Given the description of an element on the screen output the (x, y) to click on. 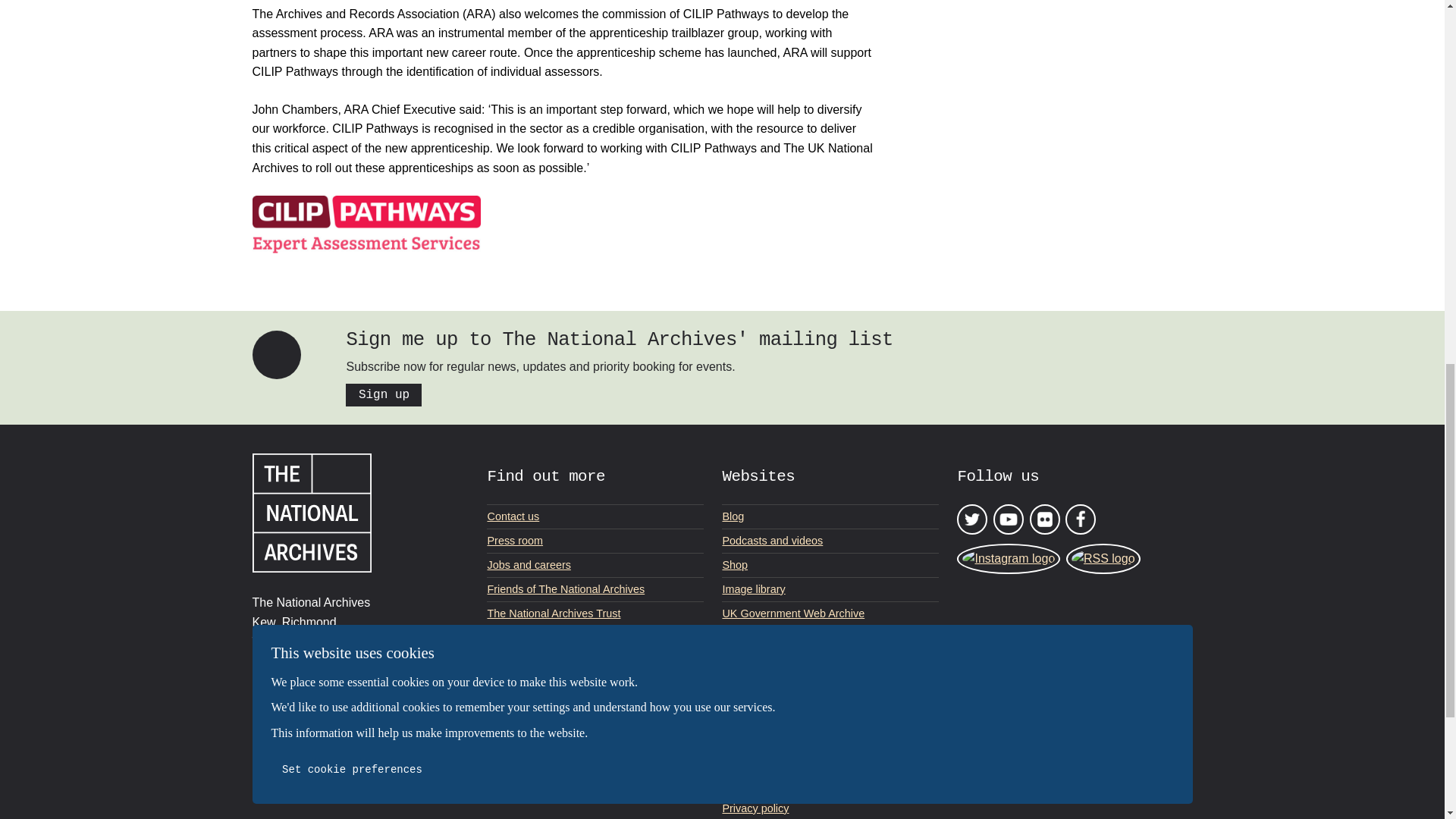
Opens a new window (829, 686)
Follow us on Instagram - Opens a new window (1007, 558)
Opens a new window (829, 638)
Follow us via RSS (1102, 558)
